Given the description of an element on the screen output the (x, y) to click on. 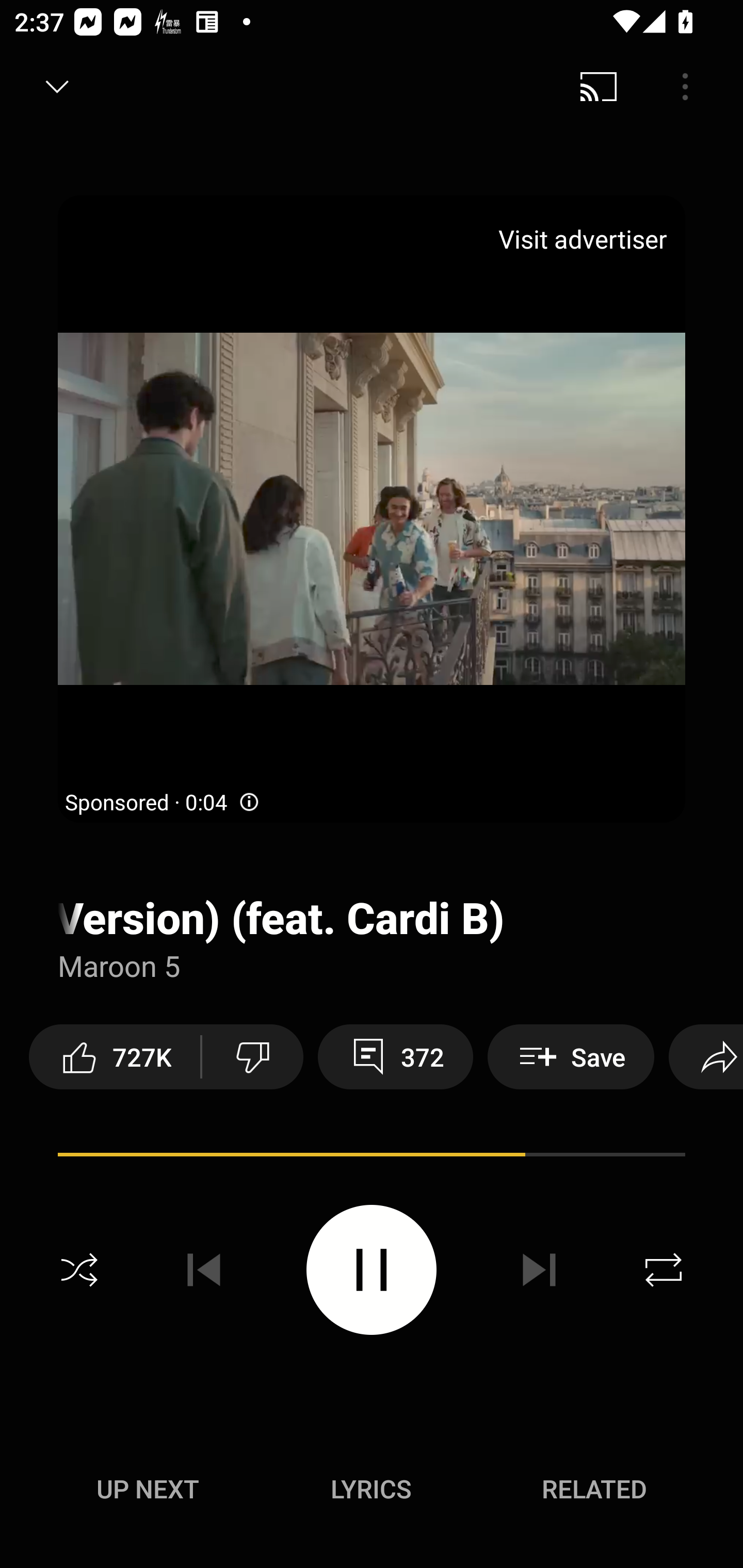
Minimize (57, 86)
Cast. Disconnected (598, 86)
Menu (684, 86)
Visit advertiser (586, 239)
Sponsored · 0:04 (162, 802)
Dislike (252, 1056)
372 View 372 comments (395, 1056)
Save Save to playlist (570, 1056)
Share (705, 1056)
Action menu (371, 1157)
Pause video (371, 1269)
Shuffle off (79, 1269)
Previous track disabled (203, 1269)
Next track disabled (538, 1269)
Repeat off (663, 1269)
Up next UP NEXT Lyrics LYRICS Related RELATED (371, 1491)
Lyrics LYRICS (370, 1488)
Related RELATED (594, 1488)
